Given the description of an element on the screen output the (x, y) to click on. 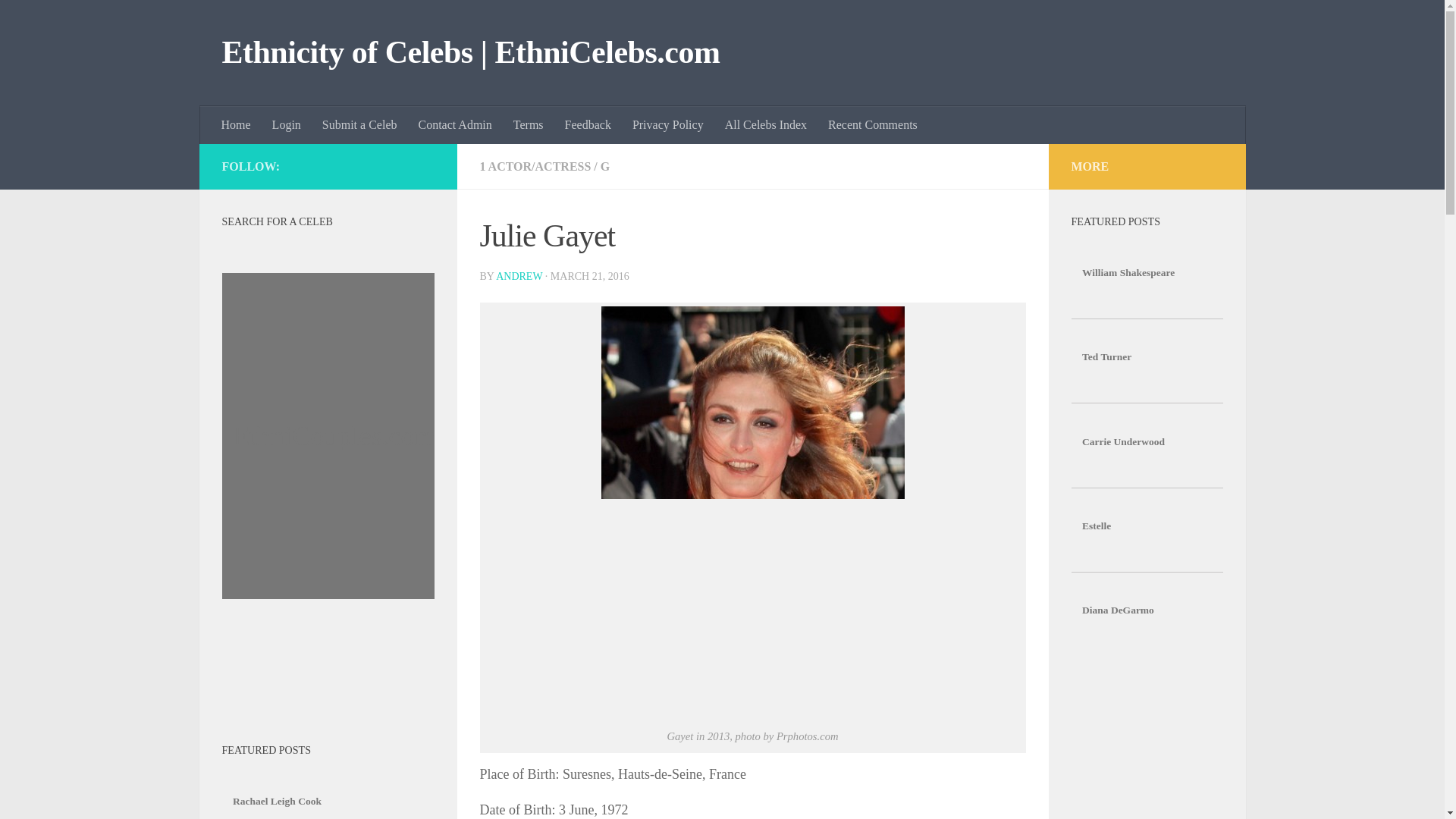
ANDREW (518, 276)
Skip to content (59, 20)
All Celebs Index (765, 125)
Terms (528, 125)
Login (286, 125)
Submit a Celeb (359, 125)
Posts by andrew (518, 276)
Privacy Policy (667, 125)
Recent Comments (872, 125)
Contact Admin (454, 125)
